Given the description of an element on the screen output the (x, y) to click on. 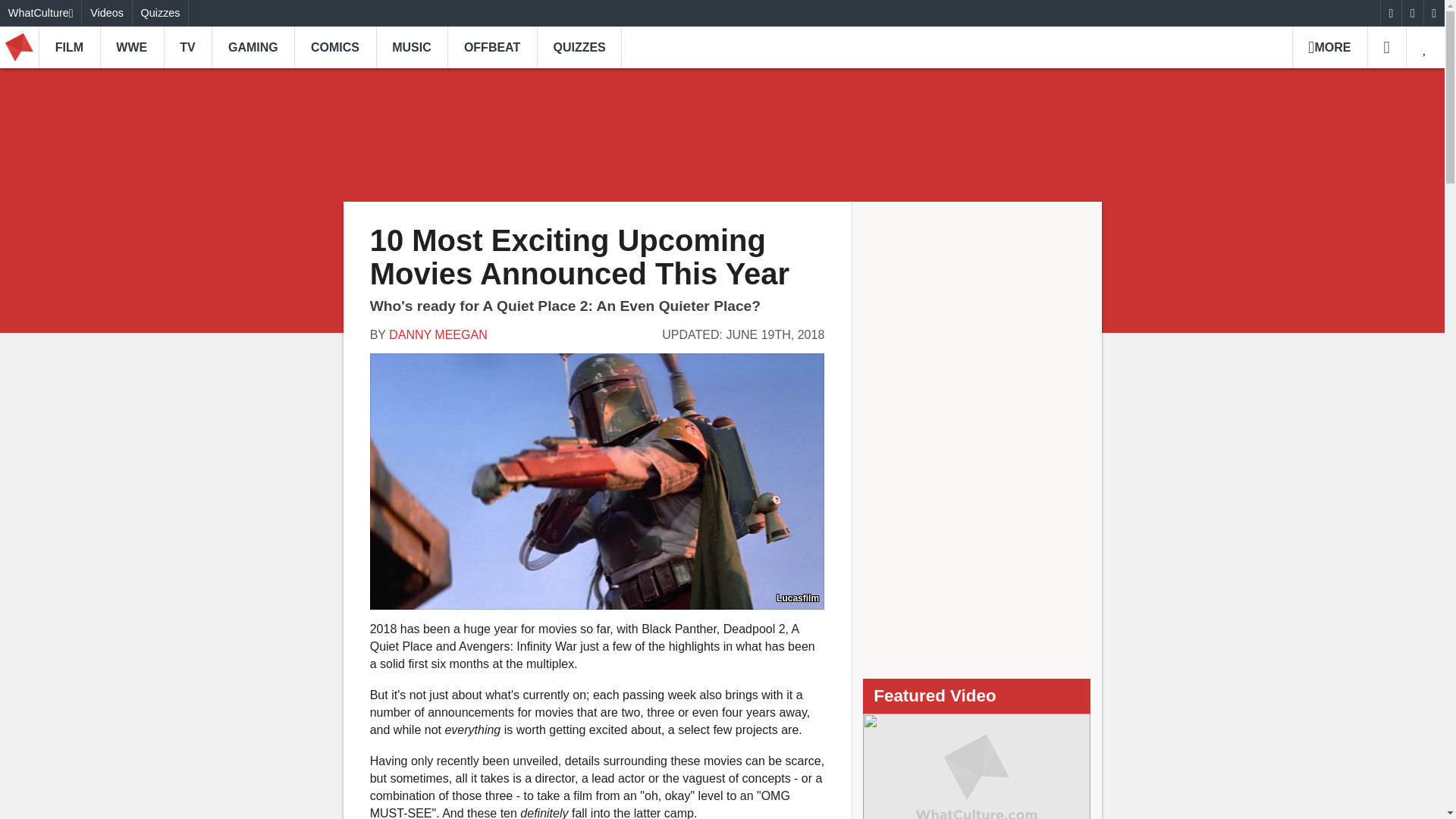
GAMING (252, 46)
TV (187, 46)
MORE (1329, 46)
Quizzes (160, 13)
OFFBEAT (491, 46)
WWE (131, 46)
Videos (106, 13)
FILM (69, 46)
Featured Video (976, 766)
SEARCH (1386, 46)
COMICS (334, 46)
Search (1386, 46)
MUSIC (411, 46)
QUIZZES (580, 46)
